Given the description of an element on the screen output the (x, y) to click on. 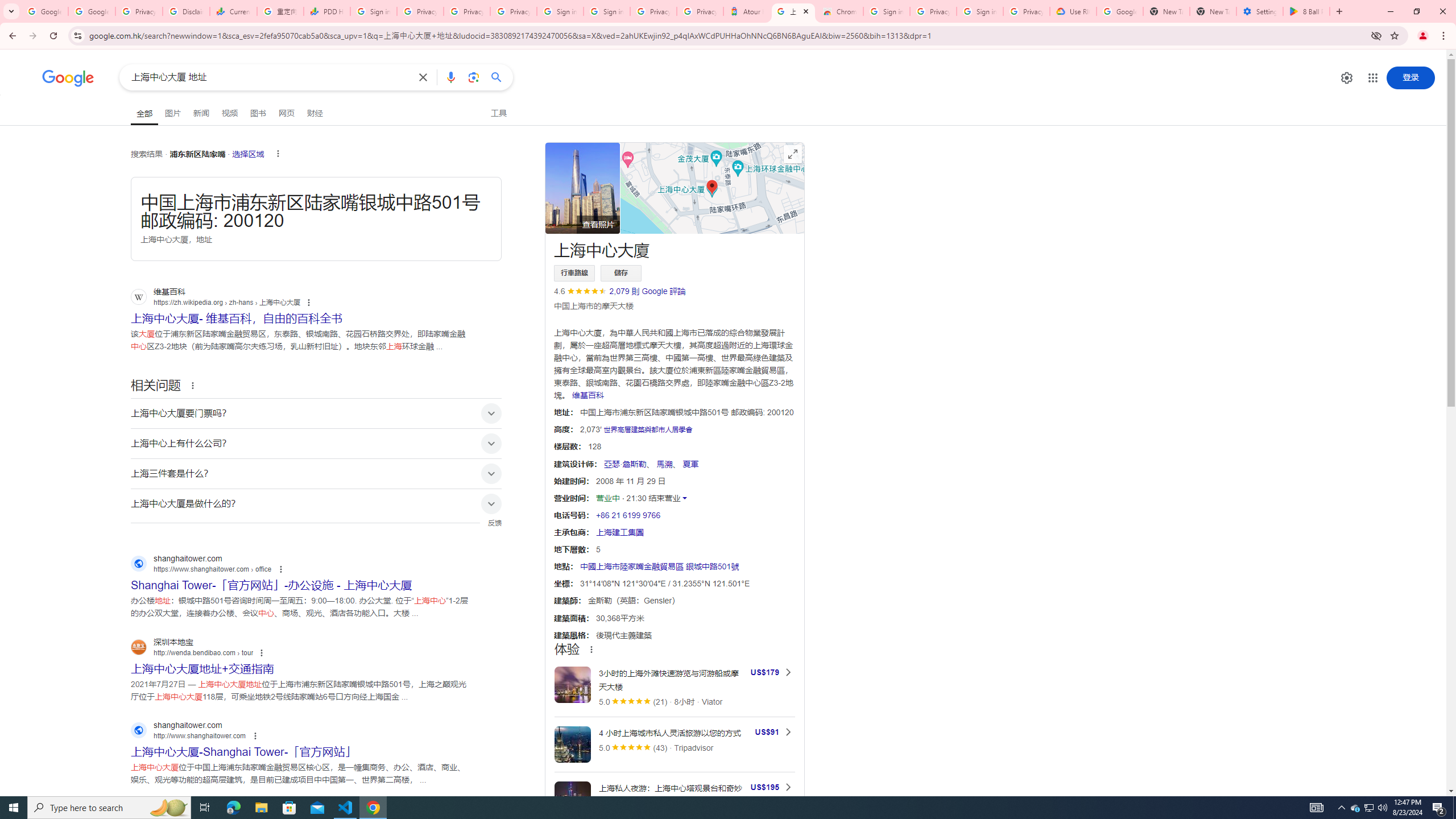
Settings - System (1259, 11)
